Given the description of an element on the screen output the (x, y) to click on. 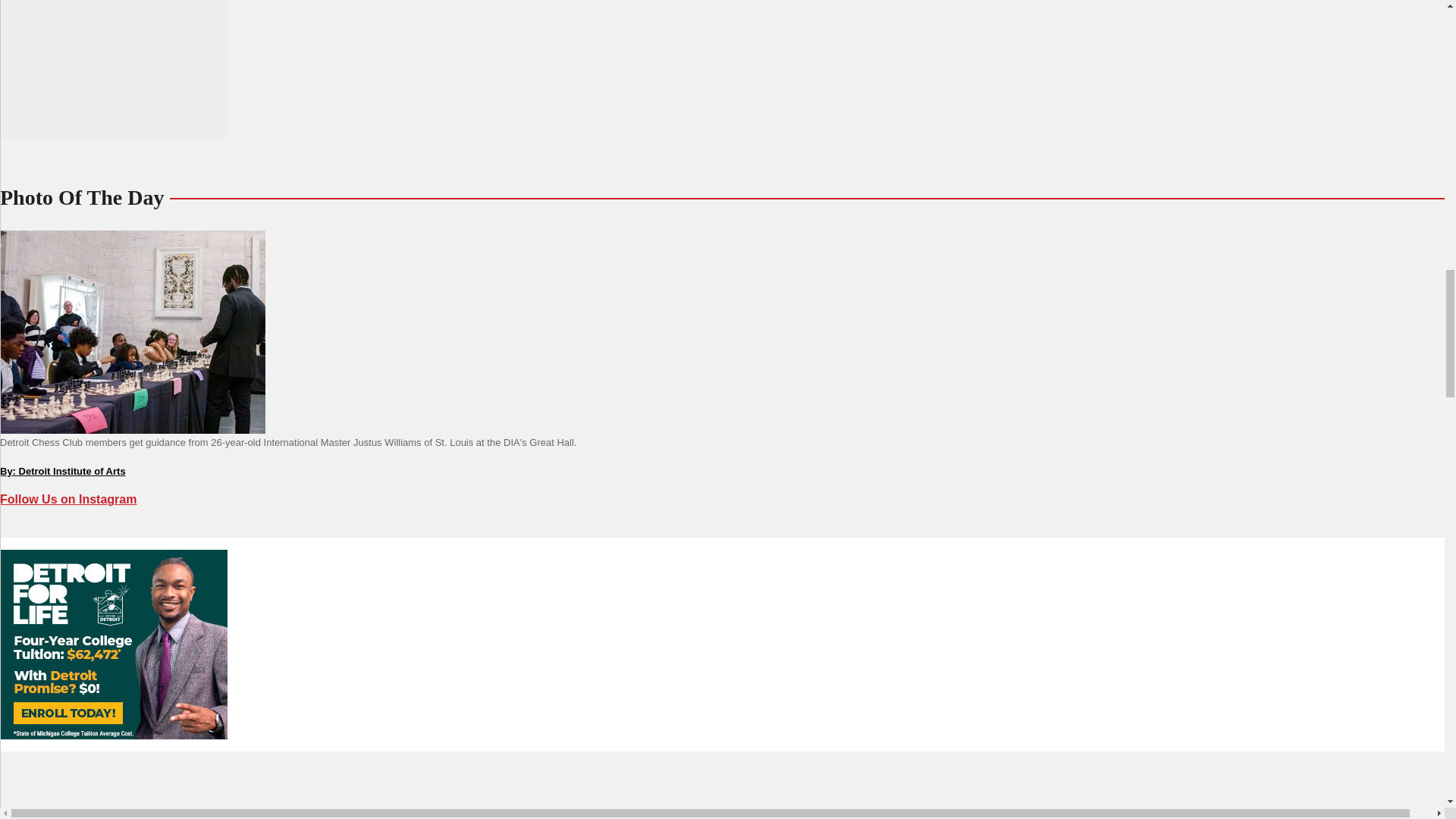
By: Detroit Institute of Arts (62, 471)
Follow Us on Instagram (68, 499)
